Given the description of an element on the screen output the (x, y) to click on. 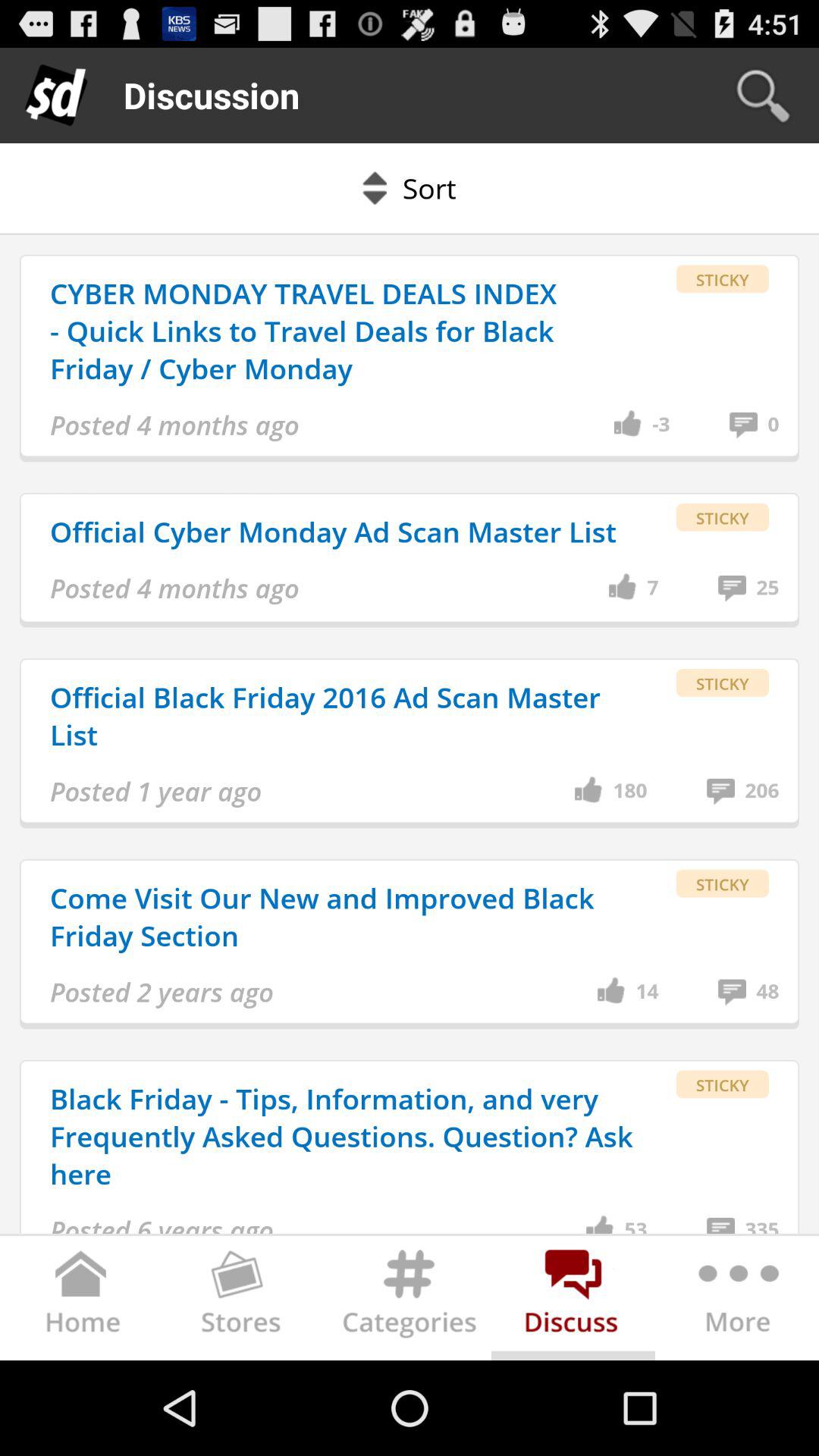
more options to discover (736, 1300)
